Given the description of an element on the screen output the (x, y) to click on. 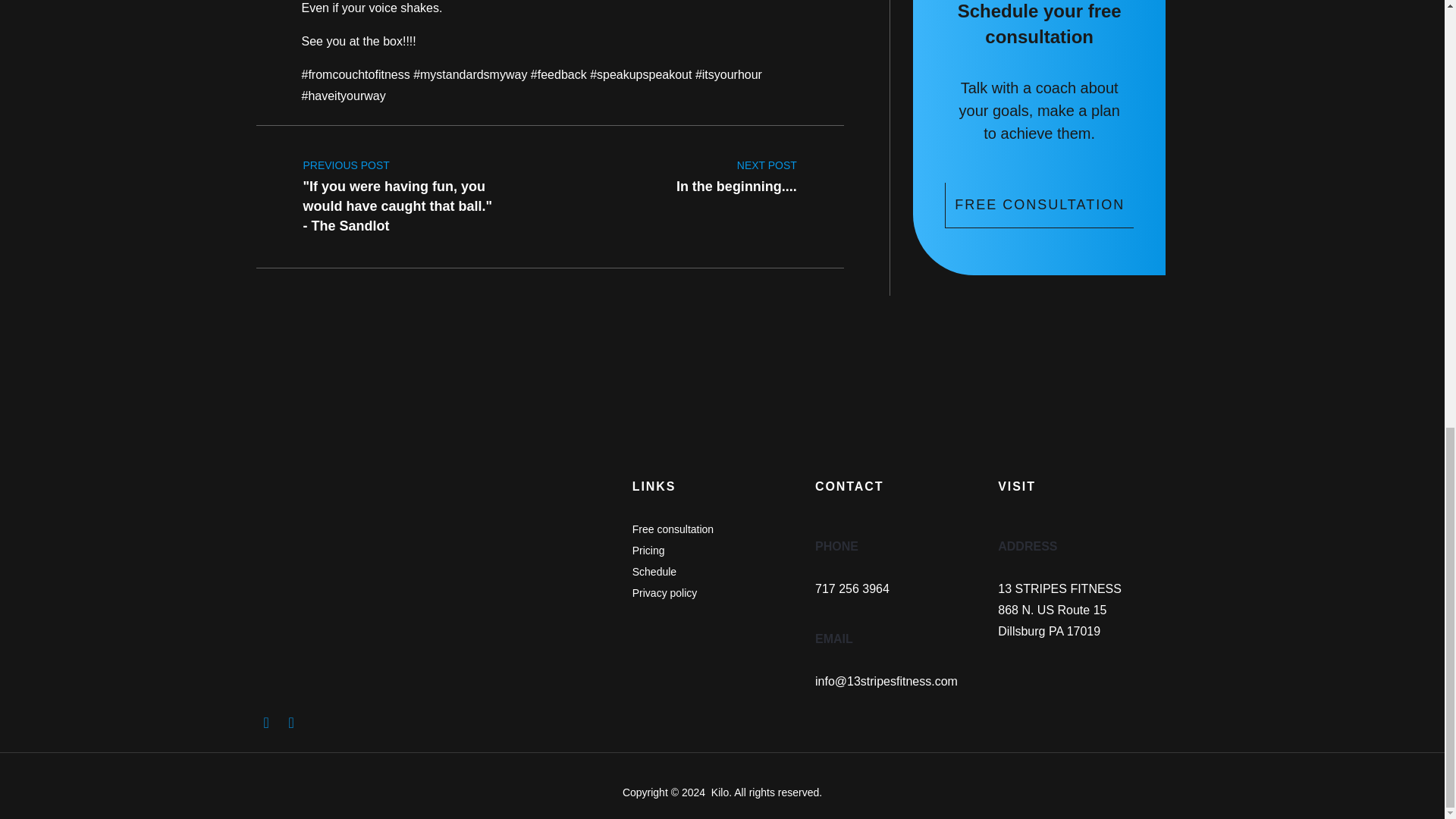
In the beginning.... (736, 171)
FREE CONSULTATION (736, 171)
